Given the description of an element on the screen output the (x, y) to click on. 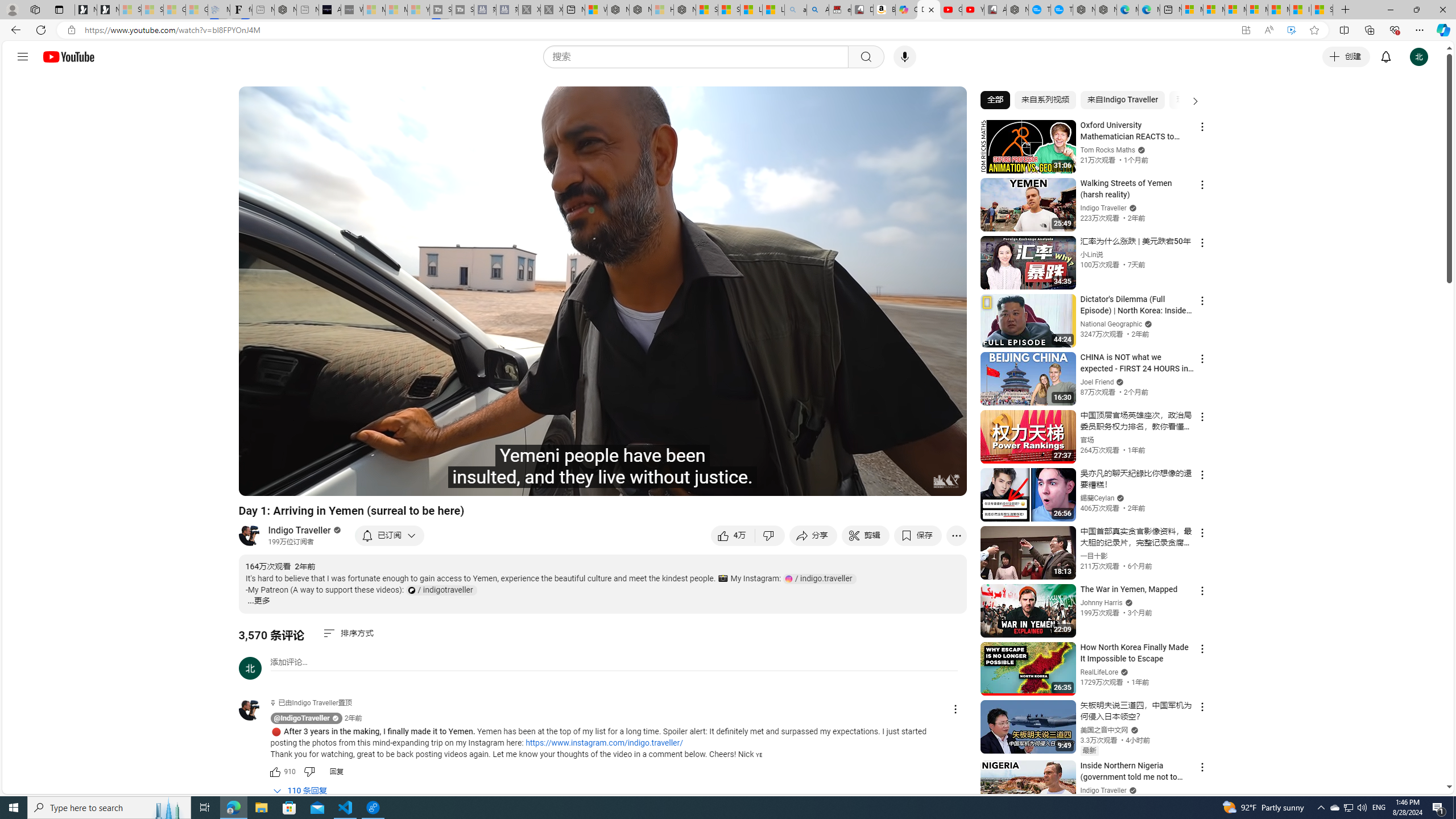
Amazon Echo Dot PNG - Search Images (818, 9)
@IndigoTraveller (301, 718)
Intro (388, 482)
https://www.instagram.com/indigo.traveller/ (603, 742)
